Given the description of an element on the screen output the (x, y) to click on. 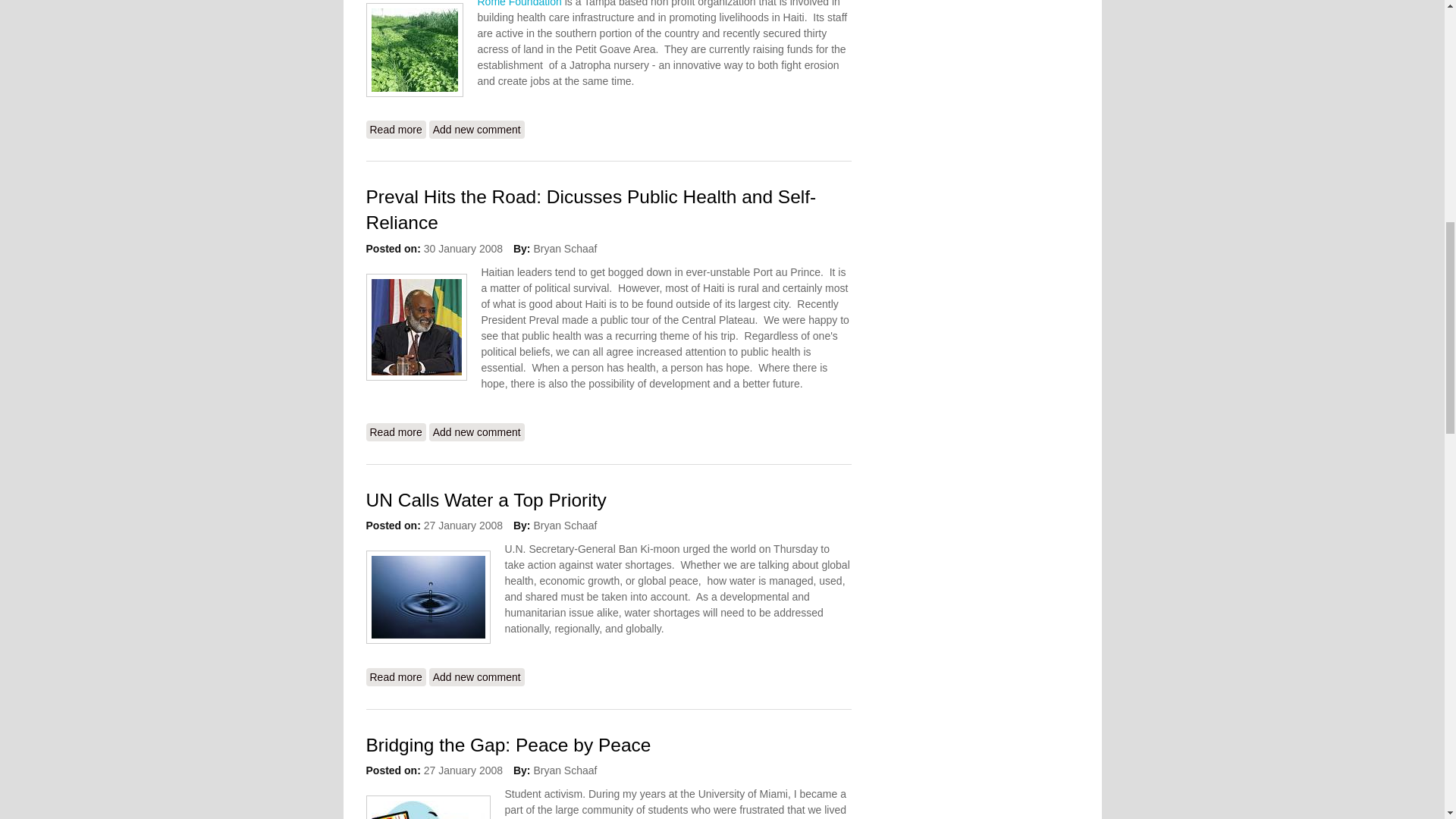
Add new comment (476, 677)
Rome Foundation to Bring Jatropha Nursery to Petit Goave (395, 129)
Add a new comment to this page. (476, 677)
UN Calls Water a Top Priority (395, 677)
Bridging the Gap: Peace by Peace (395, 677)
Add a new comment to this page. (507, 744)
Add new comment (476, 129)
Add a new comment to this page. (476, 432)
Add new comment (476, 432)
UN Calls Water a Top Priority (476, 129)
